Given the description of an element on the screen output the (x, y) to click on. 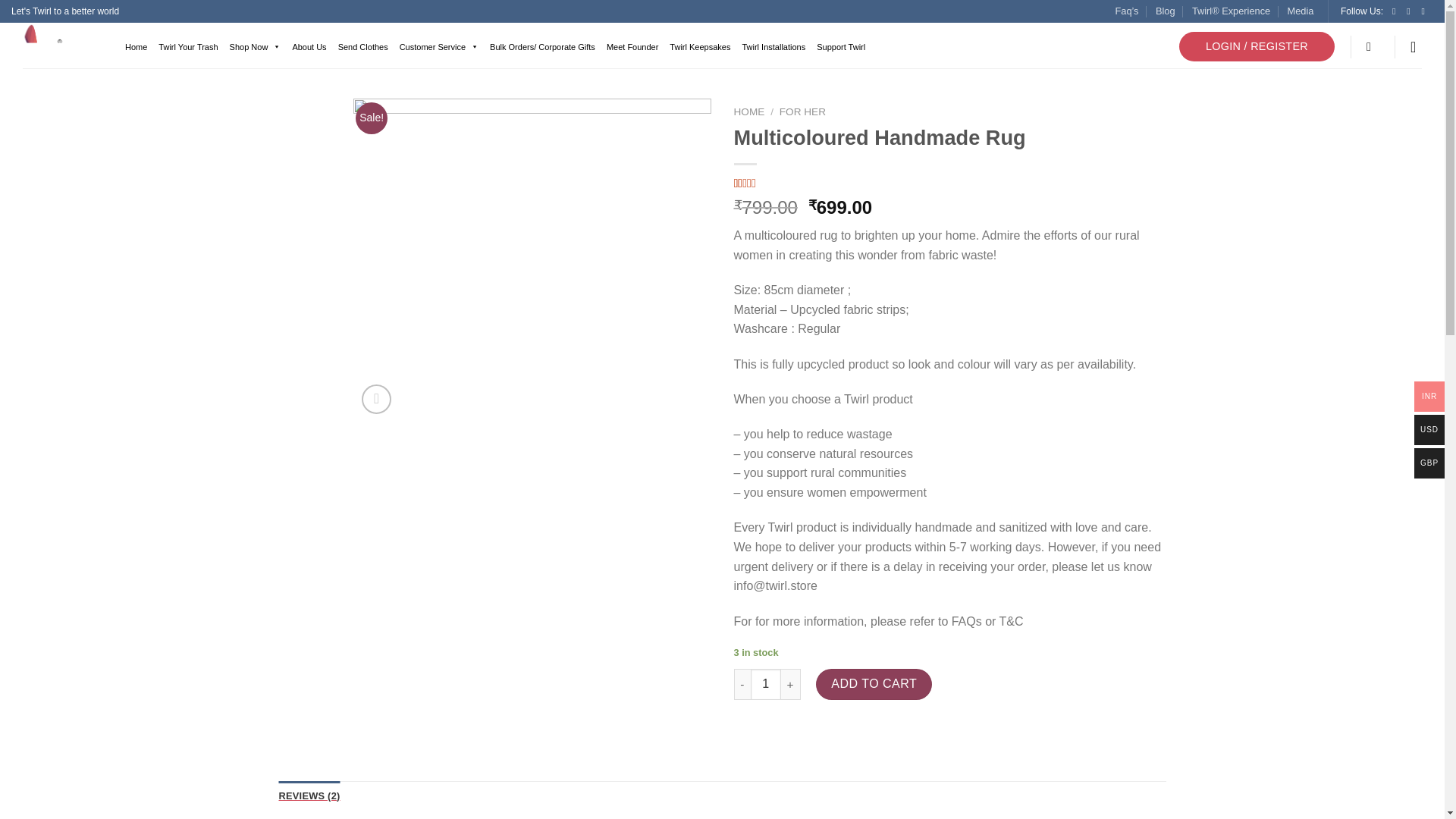
Home (134, 46)
Send Clothes (360, 46)
About Us (306, 46)
Qty (765, 684)
Twirl Installations (771, 46)
Meet Founder (630, 46)
Shop Now (253, 46)
Customer Service (436, 46)
Media (1300, 11)
Twirl Keepsakes (697, 46)
